Given the description of an element on the screen output the (x, y) to click on. 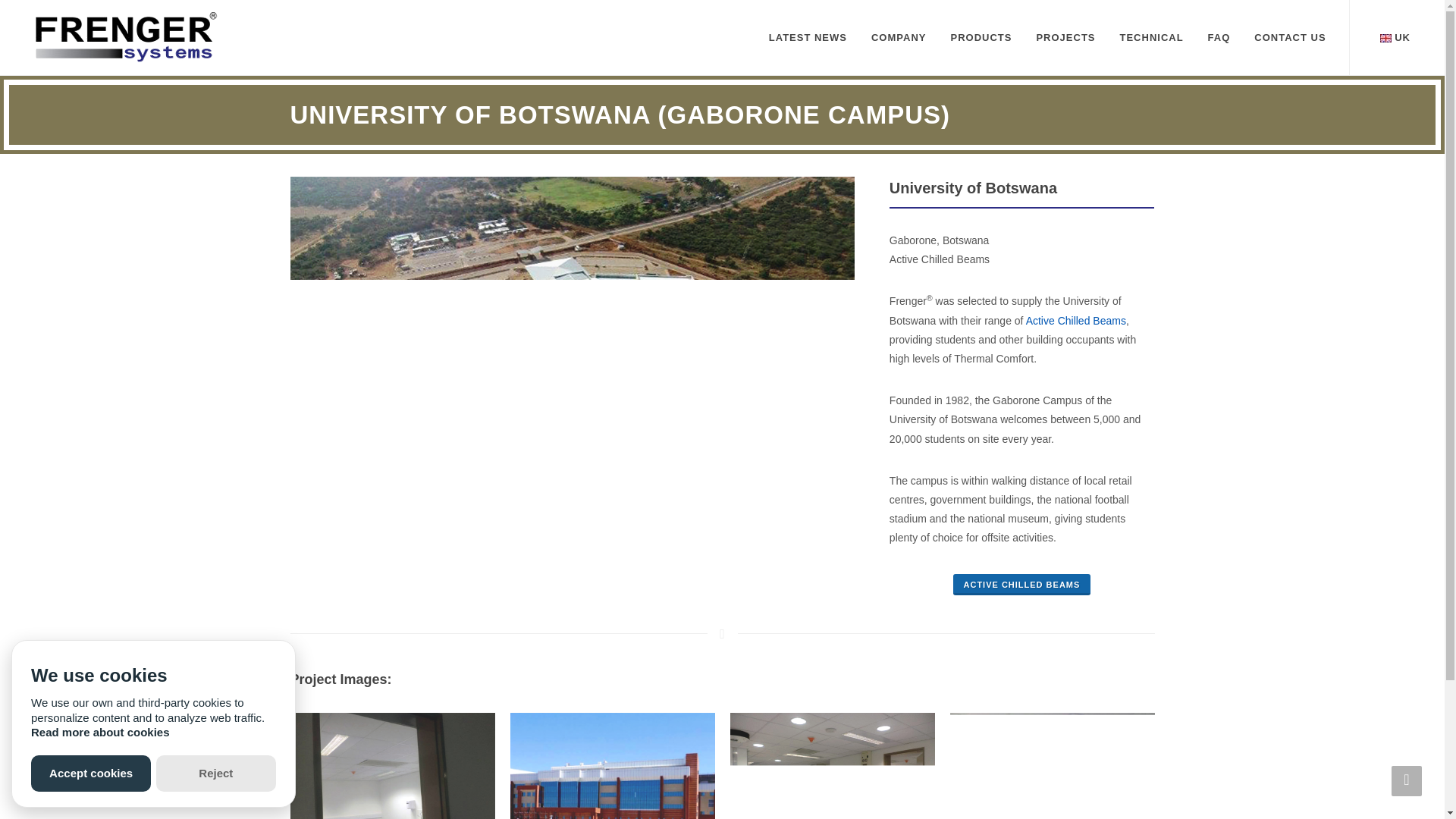
PROJECTS (1065, 38)
LATEST NEWS (808, 38)
COMPANY (898, 38)
PRODUCTS (981, 38)
